Given the description of an element on the screen output the (x, y) to click on. 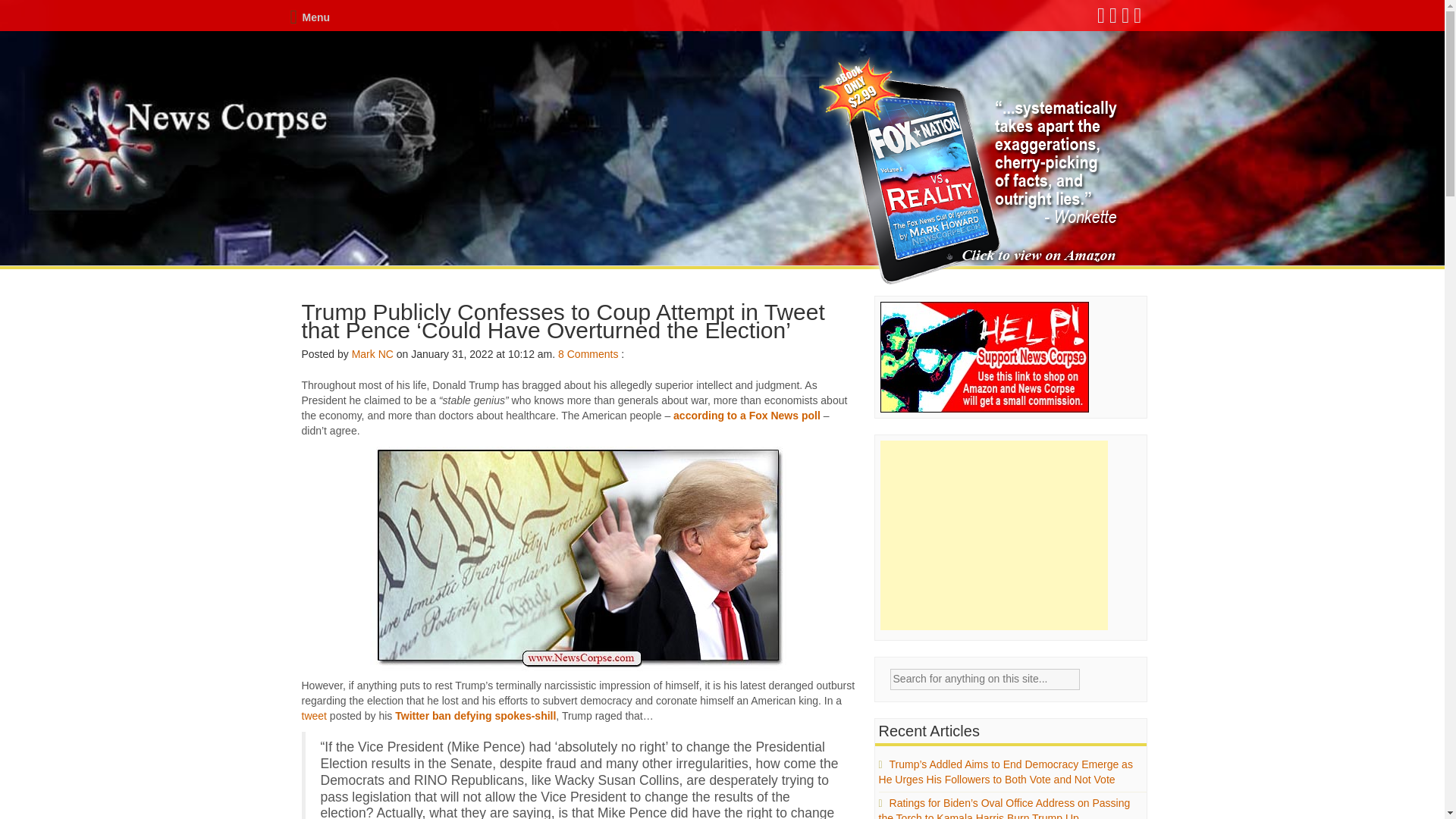
Comments (592, 354)
Fox Nation vs. Reality (971, 170)
Twitter ban defying spokes-shill (475, 715)
Menu (309, 17)
according to a Fox News poll (746, 415)
Mark NC (372, 354)
Posts by Mark NC (372, 354)
tweet (313, 715)
